Given the description of an element on the screen output the (x, y) to click on. 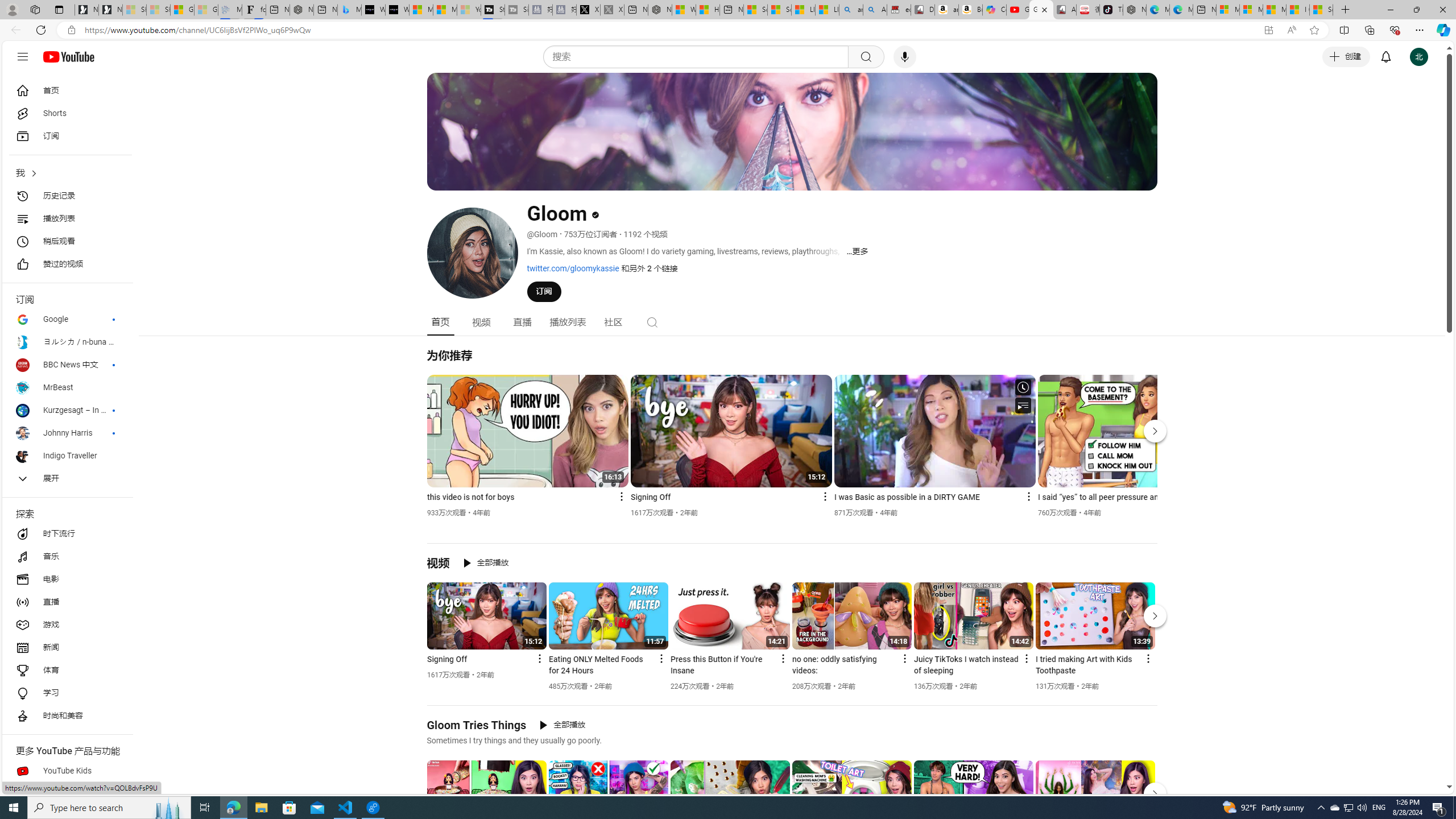
Copilot (993, 9)
Nordace - My Account (660, 9)
twitter.com/gloomykassie (572, 268)
